Given the description of an element on the screen output the (x, y) to click on. 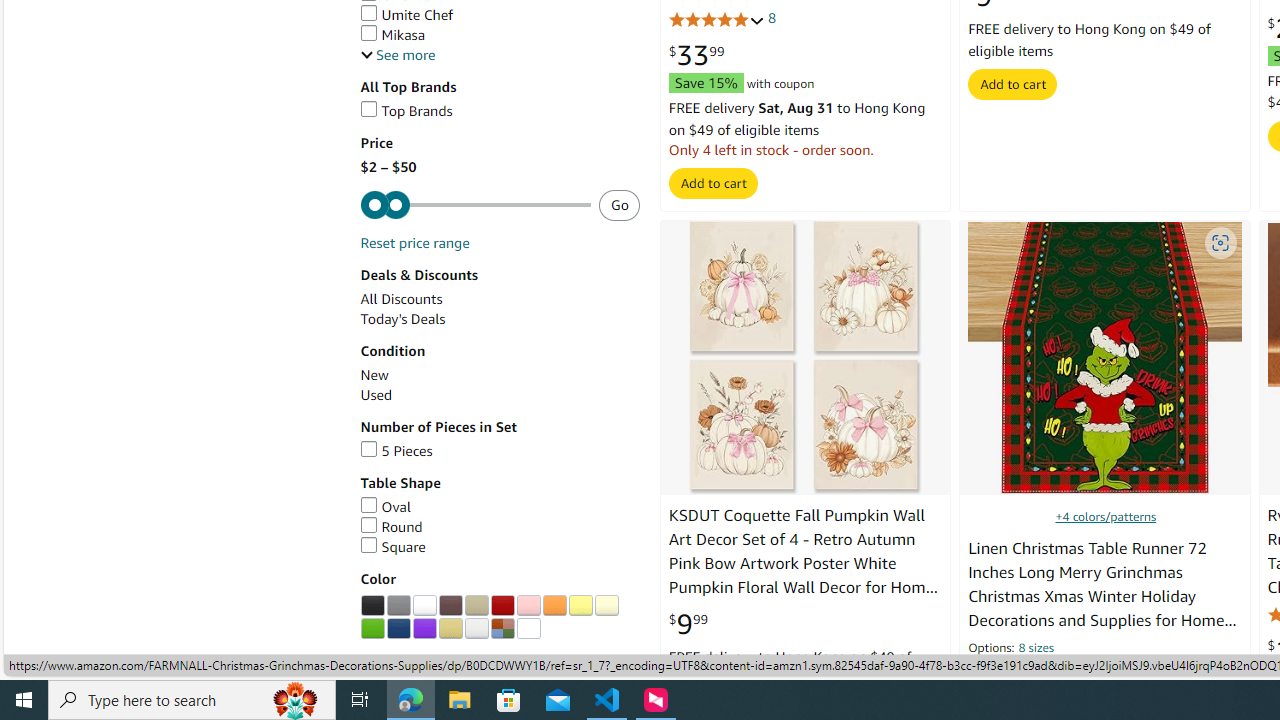
745 (1079, 673)
AutomationID: p_n_feature_twenty_browse-bin/3254101011 (450, 605)
Top Brands (499, 111)
AutomationID: p_n_feature_twenty_browse-bin/3254104011 (528, 605)
4.8 out of 5 stars (716, 20)
Pink (528, 605)
All Discounts (499, 299)
Oval (499, 507)
Today's Deals (499, 319)
AutomationID: p_n_feature_twenty_browse-bin/3254100011 (424, 605)
Clear (528, 628)
Black (372, 605)
